Given the description of an element on the screen output the (x, y) to click on. 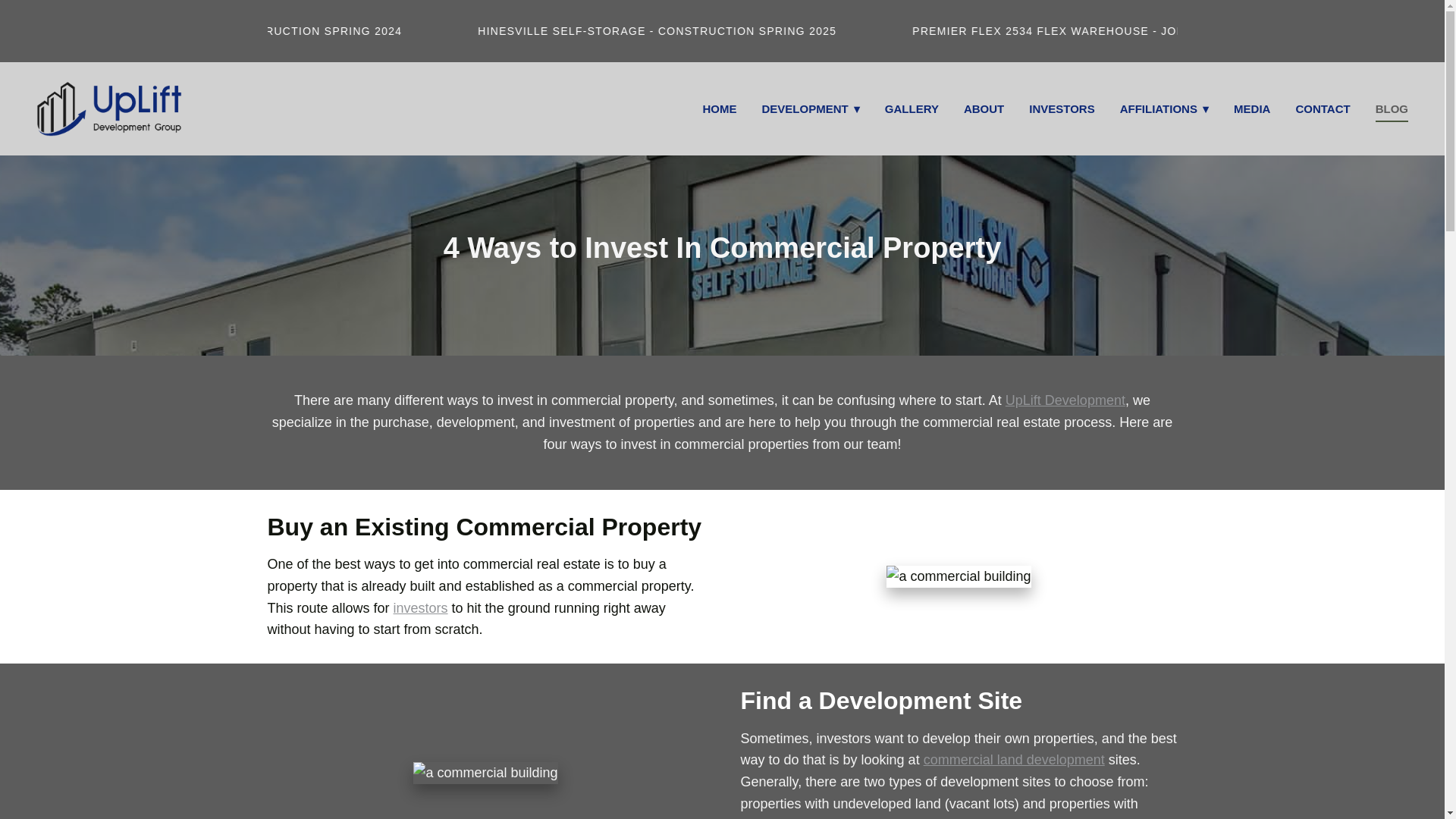
HOME (718, 109)
investors (420, 607)
GALLERY (912, 109)
BLOG (1391, 109)
CONTACT (1322, 109)
a commercial building (958, 576)
INVESTORS (1061, 109)
a commercial building (485, 772)
MEDIA (1251, 109)
ABOUT (983, 109)
